Given the description of an element on the screen output the (x, y) to click on. 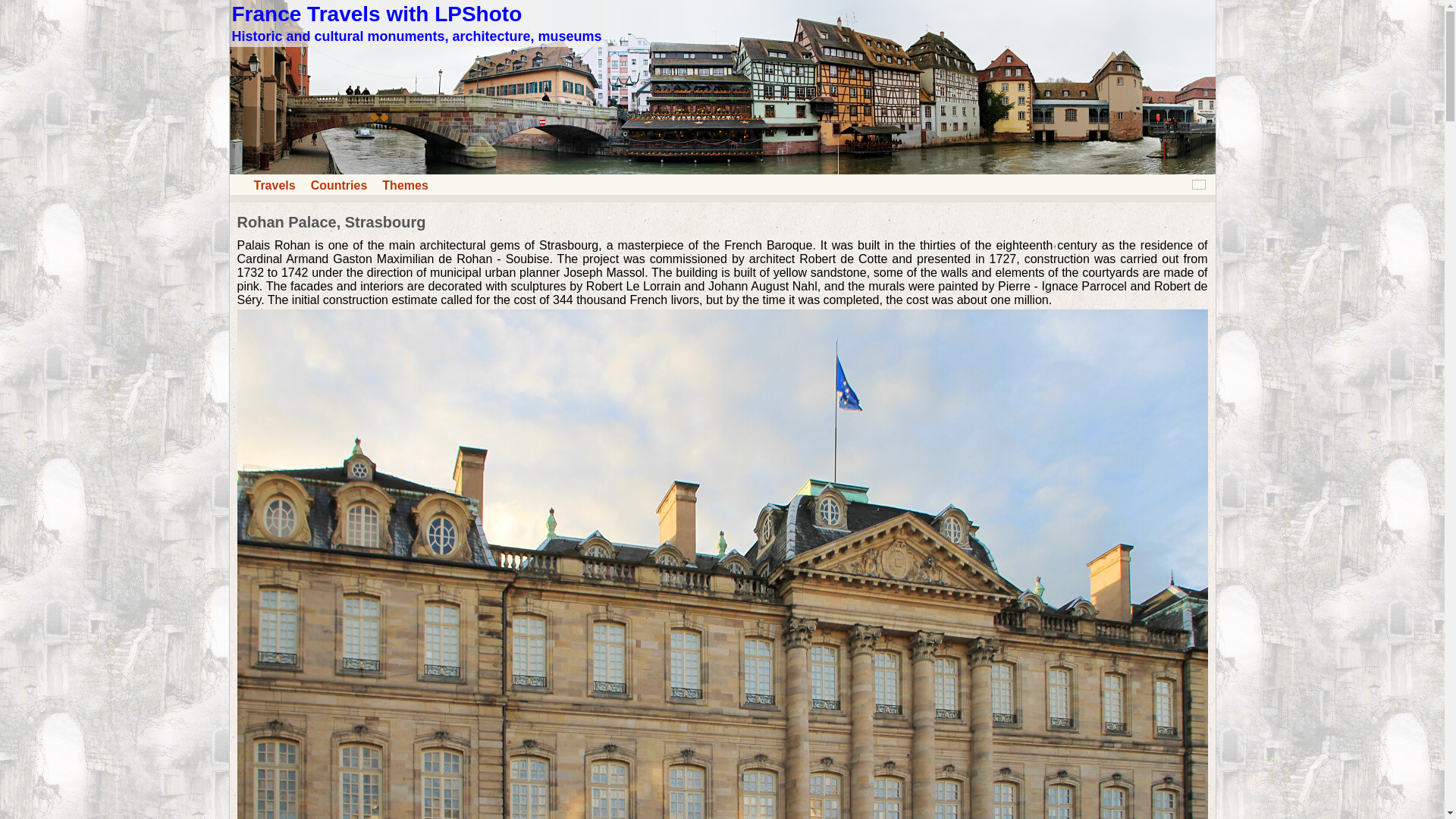
Themes (404, 185)
Countries (339, 185)
Travels (721, 169)
